Given the description of an element on the screen output the (x, y) to click on. 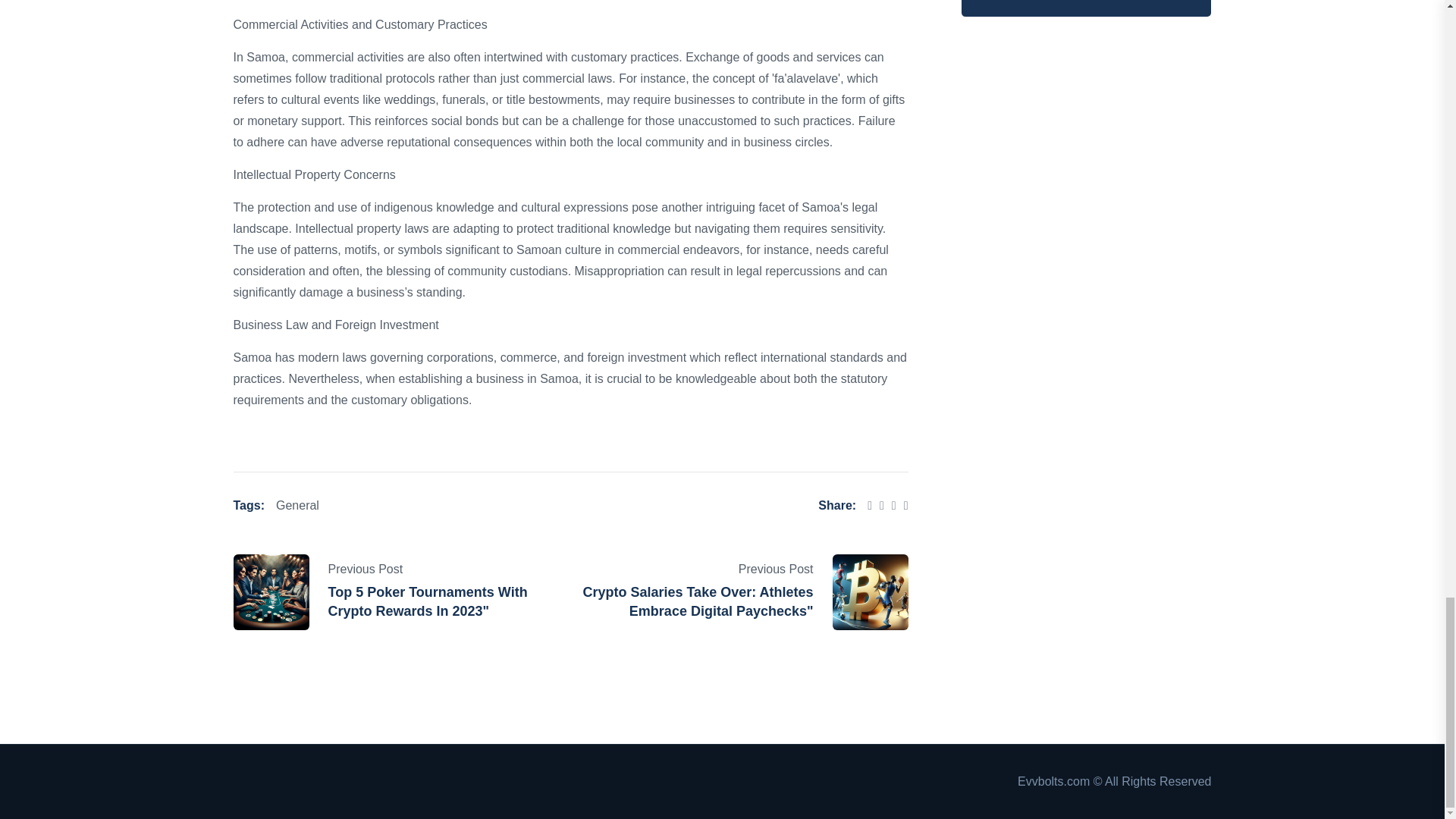
Top 5 Poker Tournaments With Crypto Rewards In 2023" (427, 601)
